Given the description of an element on the screen output the (x, y) to click on. 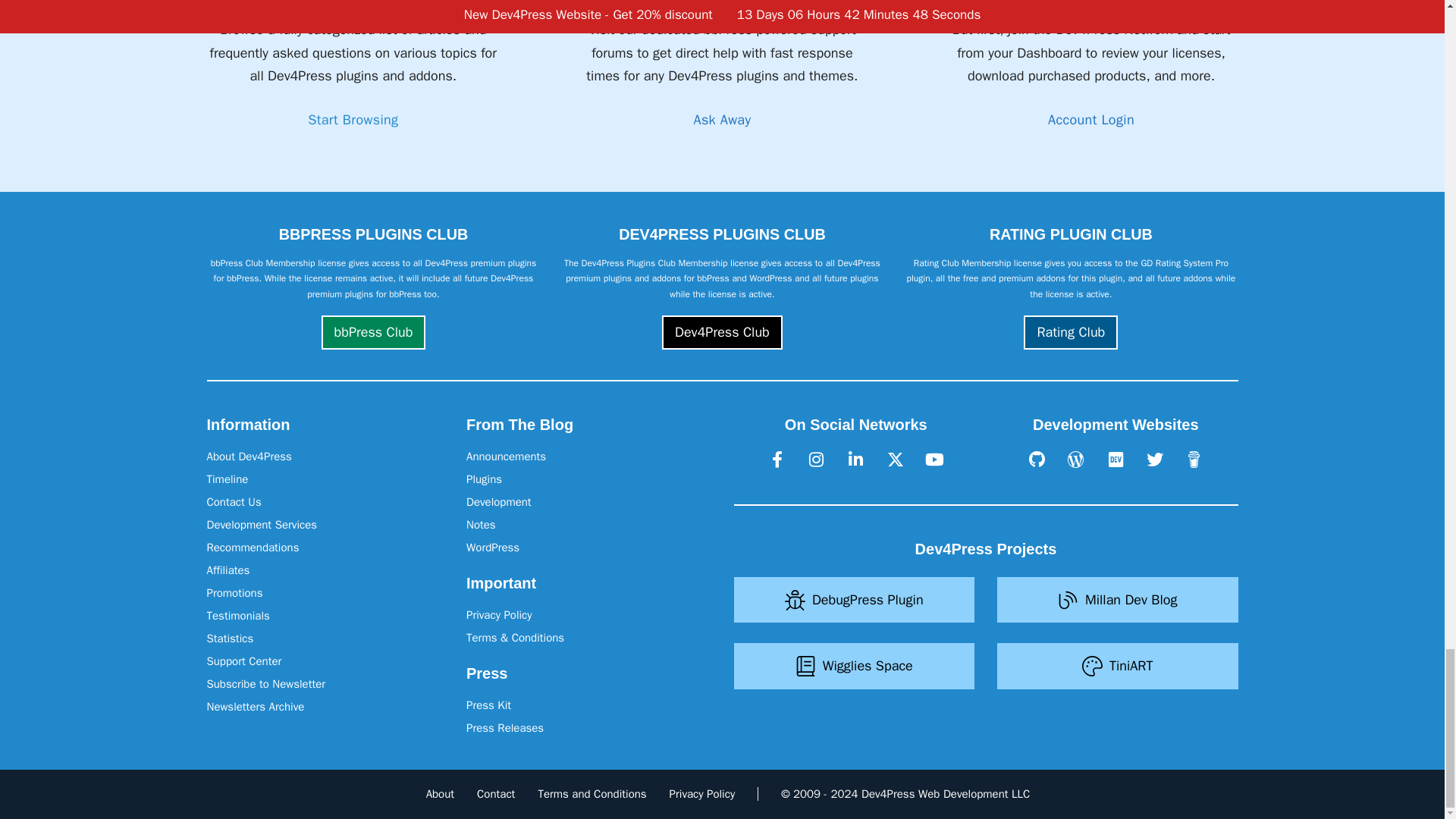
Start Browsing (352, 119)
Account Login (1091, 119)
Ask Away (722, 119)
